Given the description of an element on the screen output the (x, y) to click on. 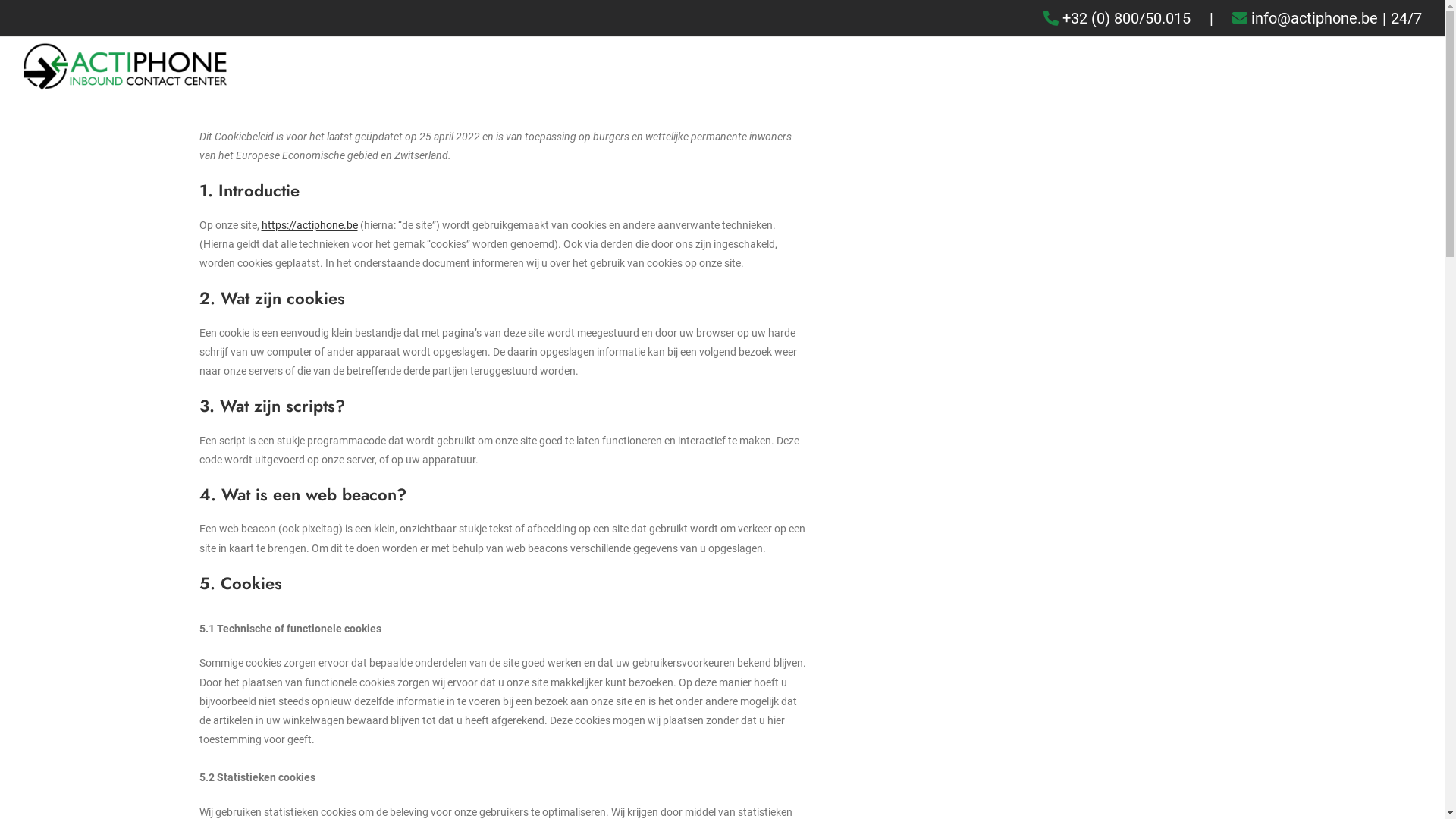
info@actiphone.be Element type: text (1314, 18)
+32 (0) 800/50.015 Element type: text (1126, 18)
24/7 Element type: text (1405, 18)
https://actiphone.be Element type: text (308, 225)
